Given the description of an element on the screen output the (x, y) to click on. 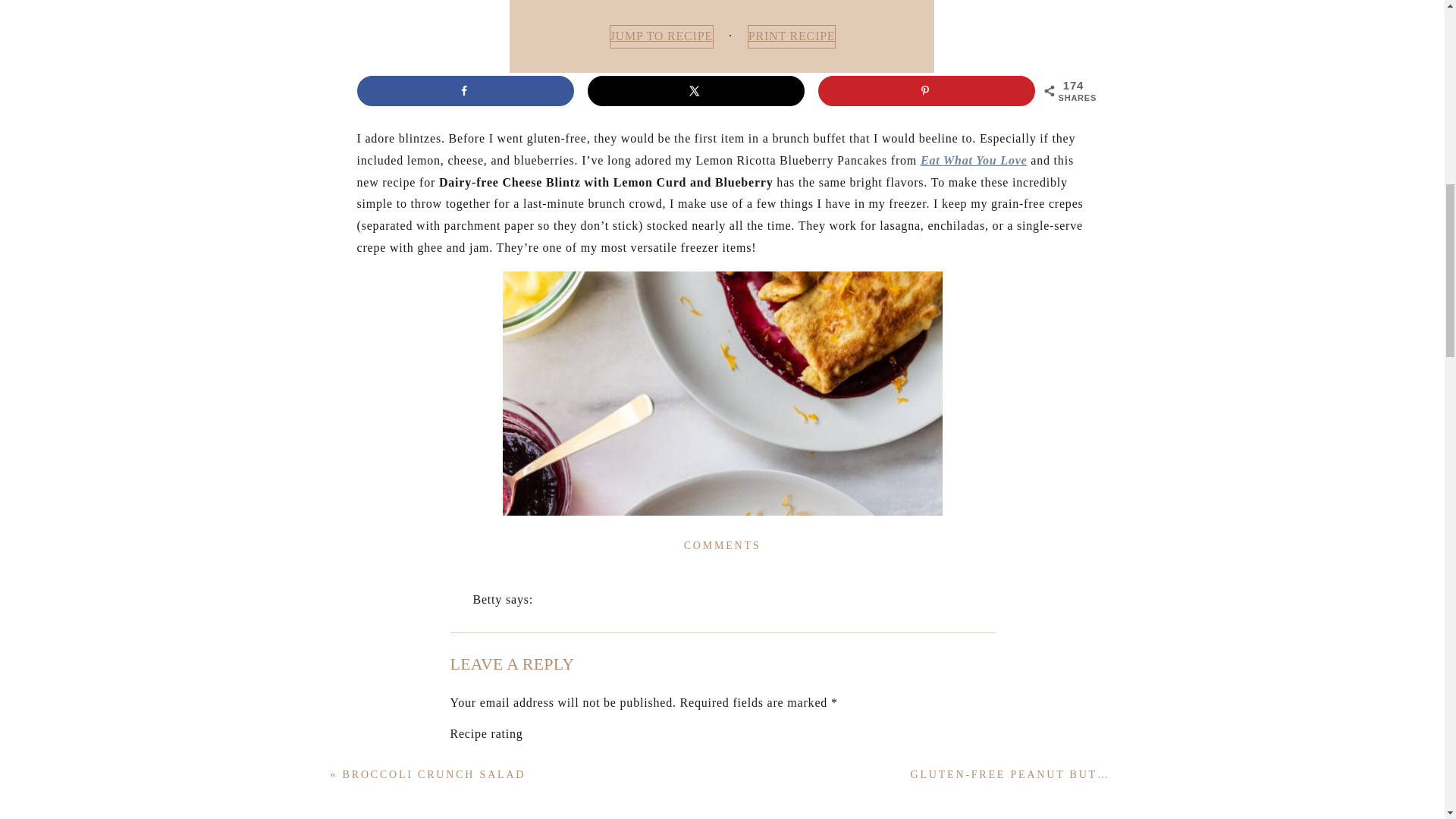
JUMP TO RECIPE (661, 36)
Share on Facebook (464, 91)
Save to Pinterest (926, 91)
Share on X (696, 91)
